Given the description of an element on the screen output the (x, y) to click on. 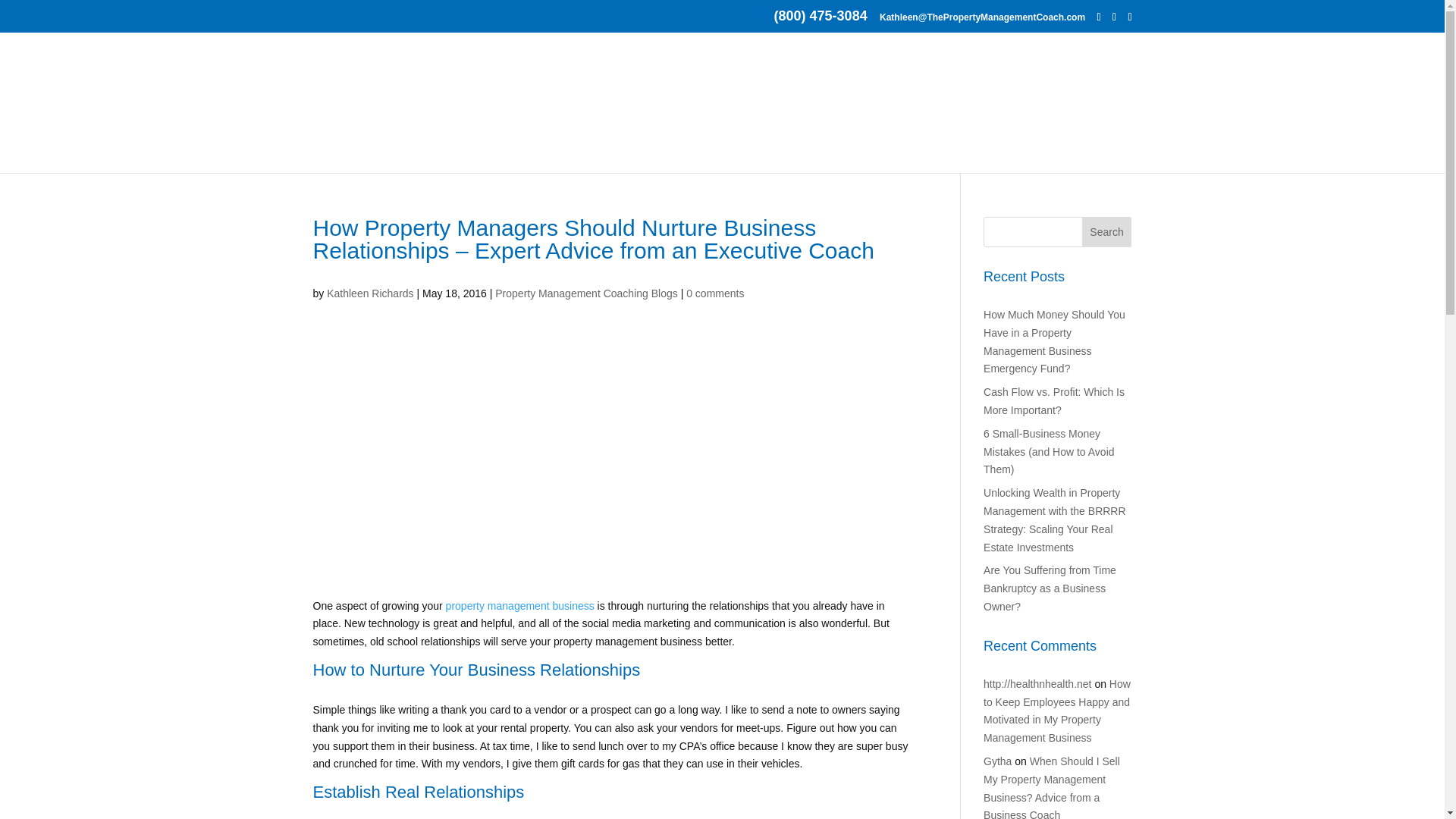
Cash Flow vs. Profit: Which Is More Important? (1054, 400)
TESTIMONIALS (940, 155)
0 comments (714, 293)
HOME (370, 155)
Kathleen Richards (369, 293)
Search (1106, 232)
Posts by Kathleen Richards (369, 293)
ABOUT (434, 155)
Search (1106, 232)
